Given the description of an element on the screen output the (x, y) to click on. 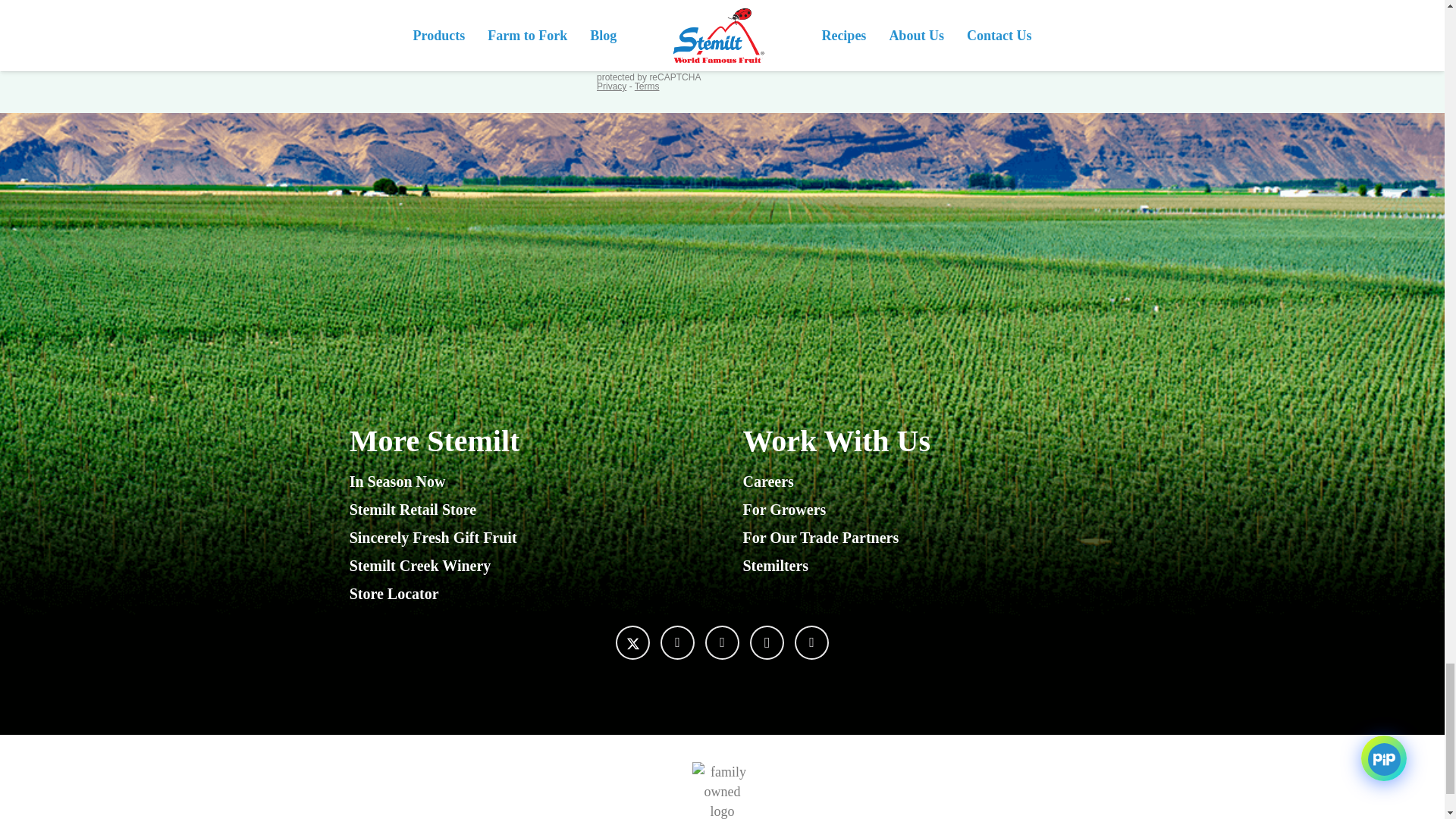
Pinterest (811, 642)
Facebook (677, 642)
Twitter (632, 642)
YouTube (721, 642)
Instagram (766, 642)
